Given the description of an element on the screen output the (x, y) to click on. 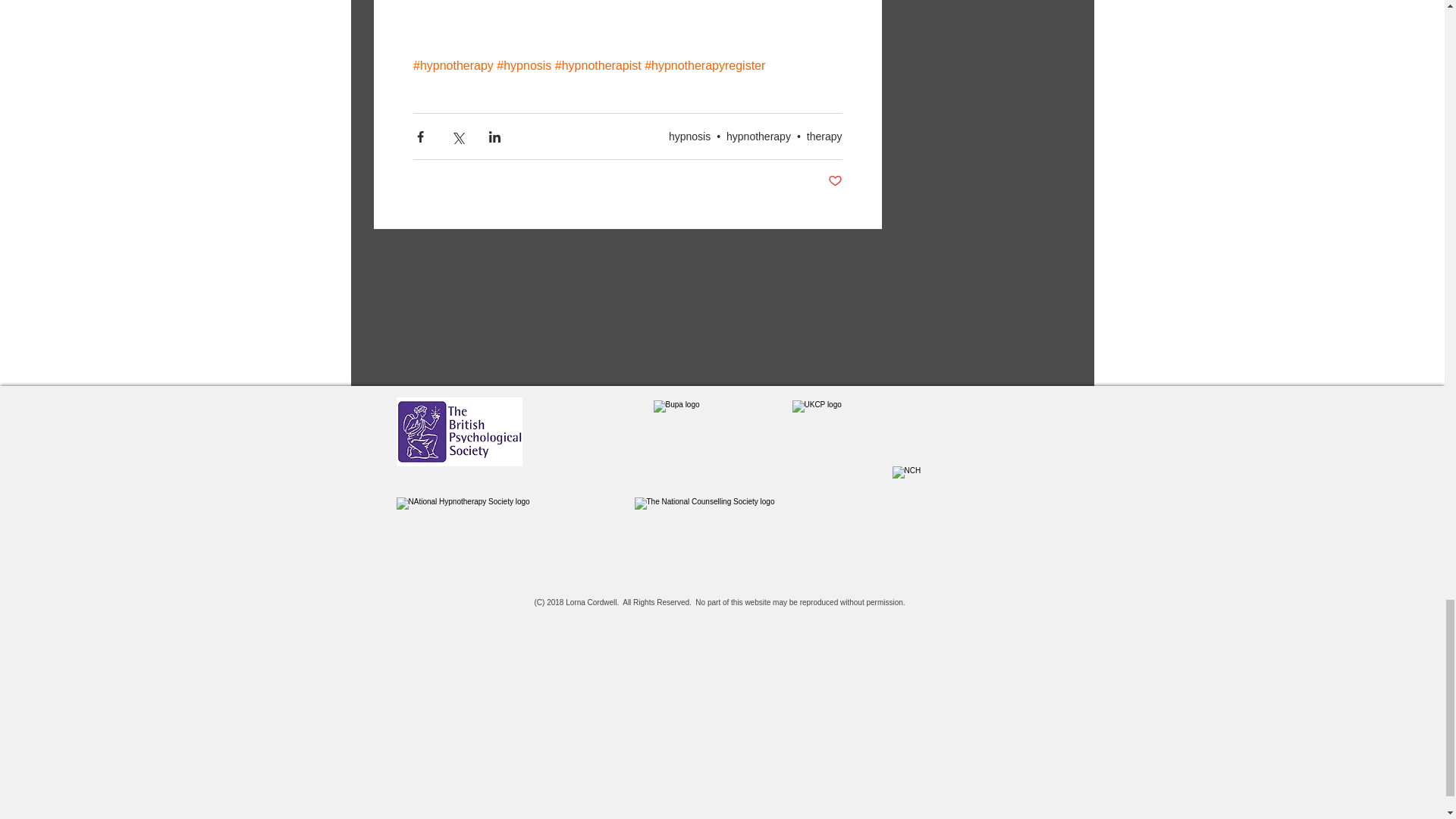
therapy (824, 136)
hypnotherapy (758, 136)
Post not marked as liked (835, 181)
hypnosis (689, 136)
